Given the description of an element on the screen output the (x, y) to click on. 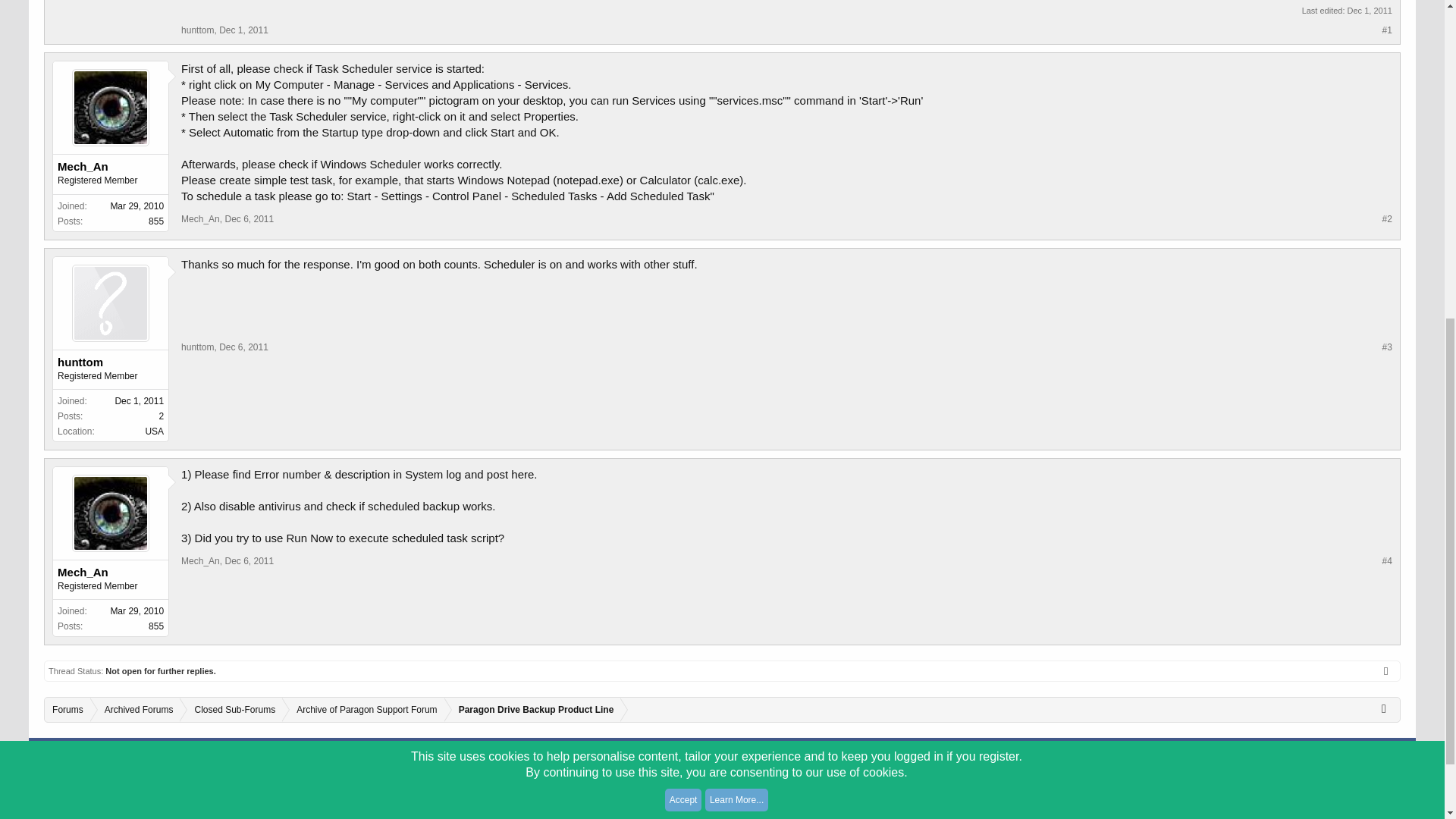
Dec 1, 2011 at 12:24 PM (1369, 10)
USA (153, 430)
hunttom (197, 30)
Dec 6, 2011 (243, 347)
855 (155, 625)
Dec 6, 2011 (248, 218)
Dec 1, 2011 (243, 30)
Permalink (248, 561)
Dec 6, 2011 (248, 561)
hunttom (197, 347)
Permalink (243, 347)
855 (155, 221)
Permalink (243, 30)
hunttom (110, 362)
Permalink (248, 218)
